Given the description of an element on the screen output the (x, y) to click on. 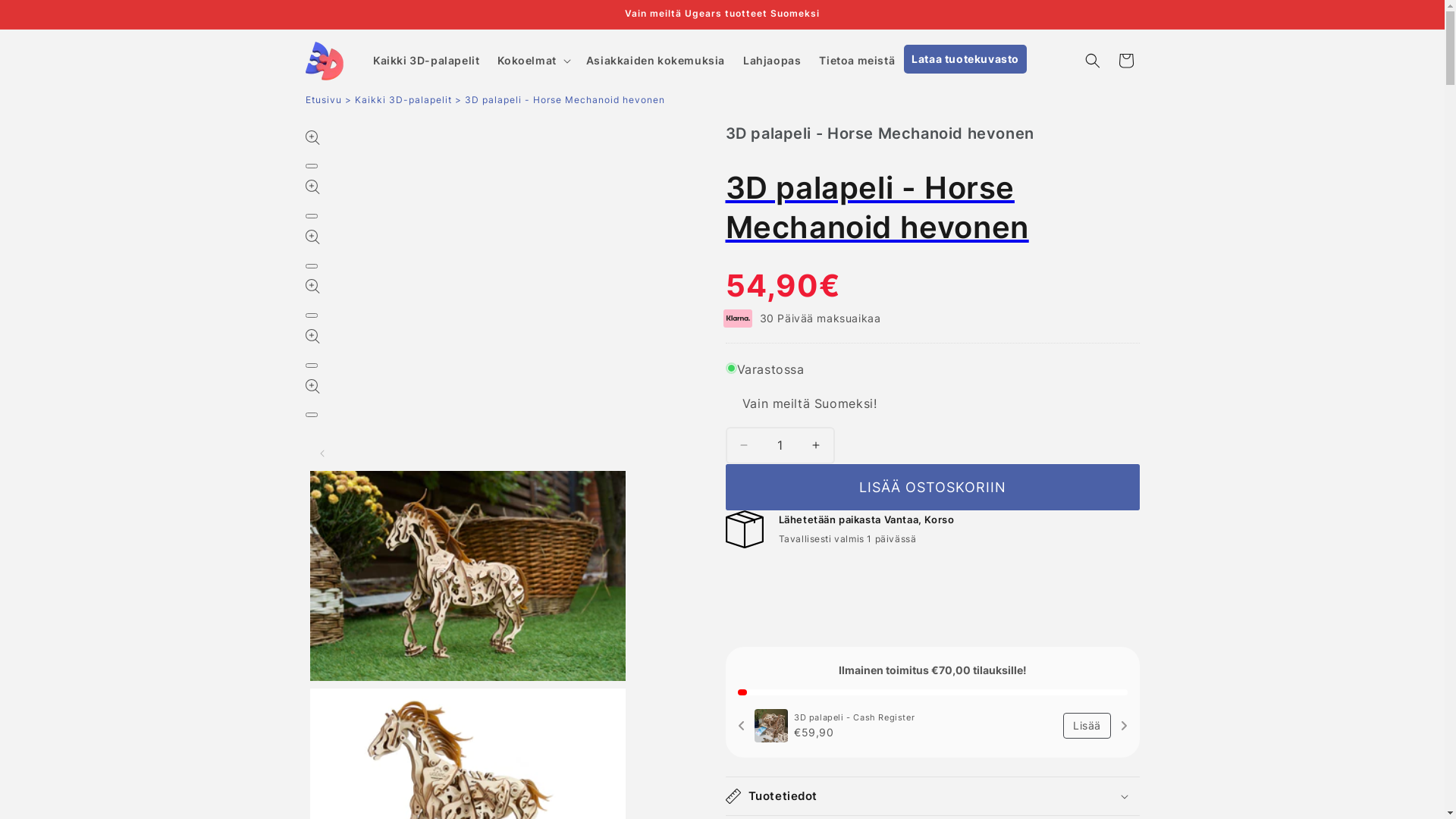
Siirry tuotetietoihin Element type: text (349, 145)
Avaa aineisto 3 modaalisessa ikkunassa Element type: text (310, 265)
Avaa aineisto 2 modaalisessa ikkunassa Element type: text (310, 215)
Avaa aineisto 5 modaalisessa ikkunassa Element type: text (310, 365)
Etusivu Element type: text (324, 99)
Kaikki 3D-palapelit Element type: text (402, 99)
Avaa aineisto 4 modaalisessa ikkunassa Element type: text (310, 315)
Lahjaopas Element type: text (771, 60)
Kaikki 3D-palapelit Element type: text (426, 60)
Lataa tuotekuvasto Element type: text (964, 58)
Asiakkaiden kokemuksia Element type: text (655, 60)
3D palapeli - Cash Register Element type: text (924, 717)
Ostoskori Element type: text (1125, 60)
Avaa aineisto 1 modaalisessa ikkunassa Element type: text (310, 165)
Avaa aineisto 6 modaalisessa ikkunassa Element type: text (310, 414)
3D palapeli - Horse Mechanoid hevonen Element type: text (931, 207)
